Given the description of an element on the screen output the (x, y) to click on. 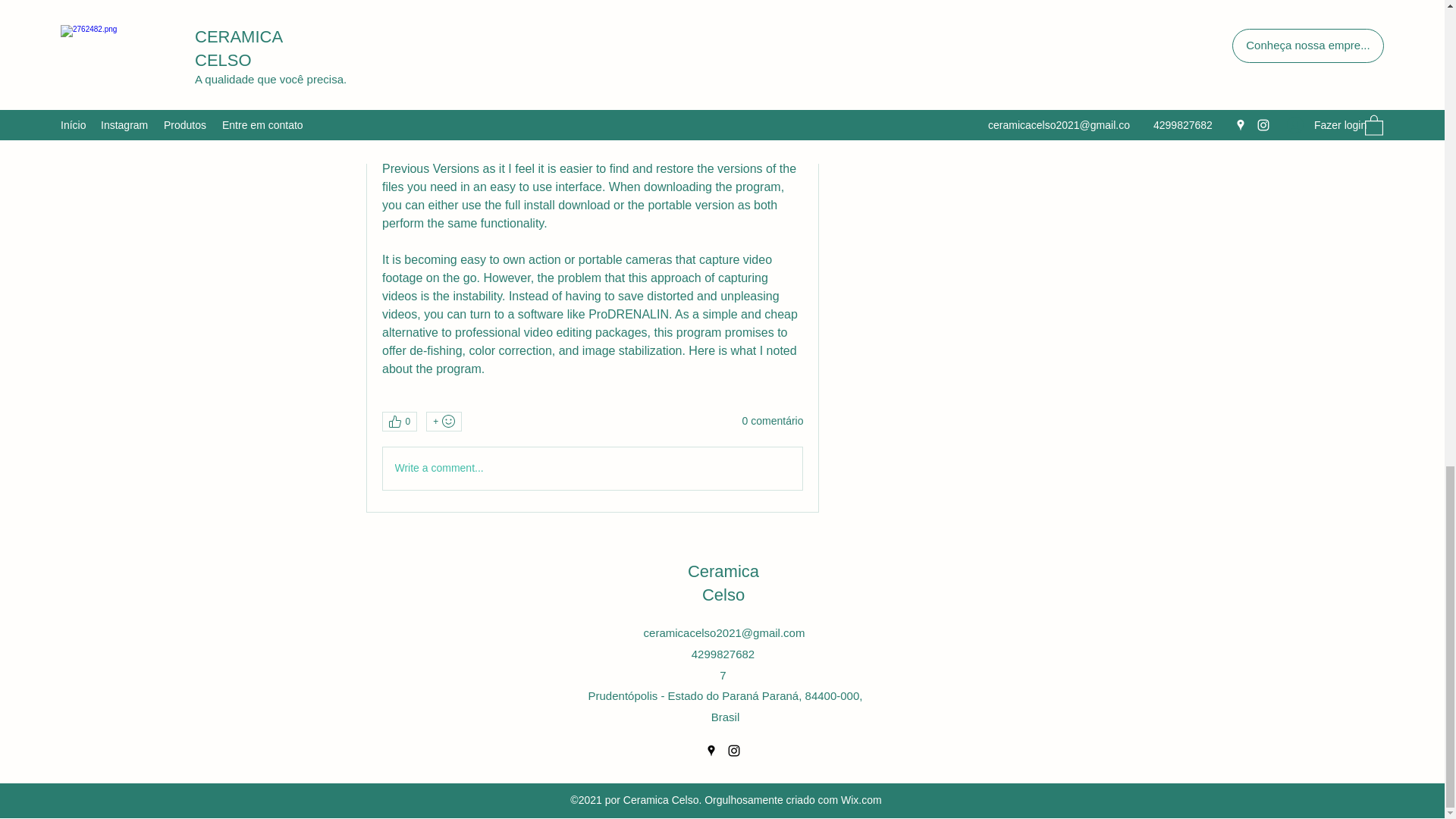
Write a comment... (591, 468)
Ceramica Celso (722, 582)
